Given the description of an element on the screen output the (x, y) to click on. 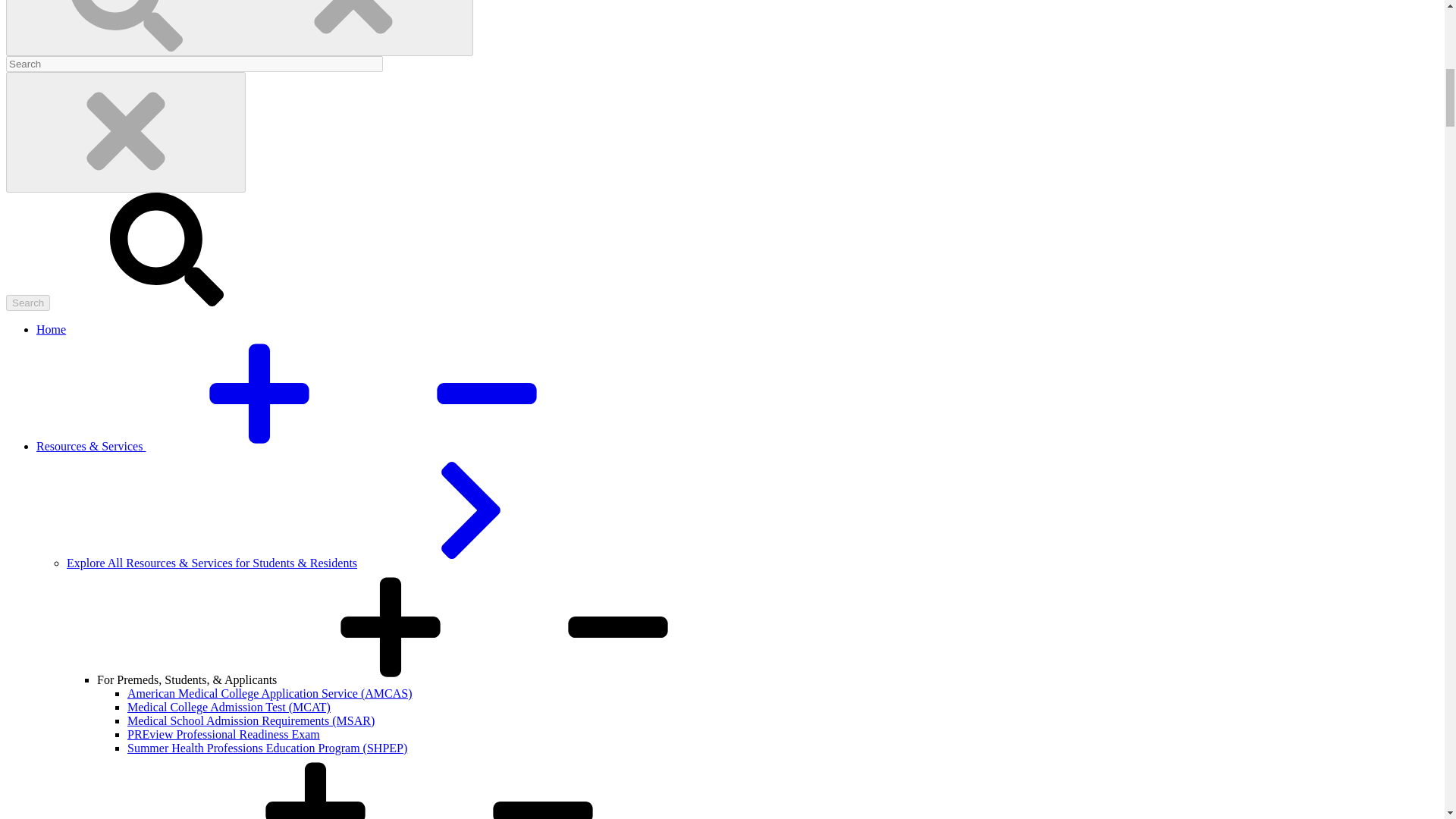
PREview Professional Readiness Exam (224, 734)
Search (27, 302)
Search (27, 302)
Home (50, 328)
